Given the description of an element on the screen output the (x, y) to click on. 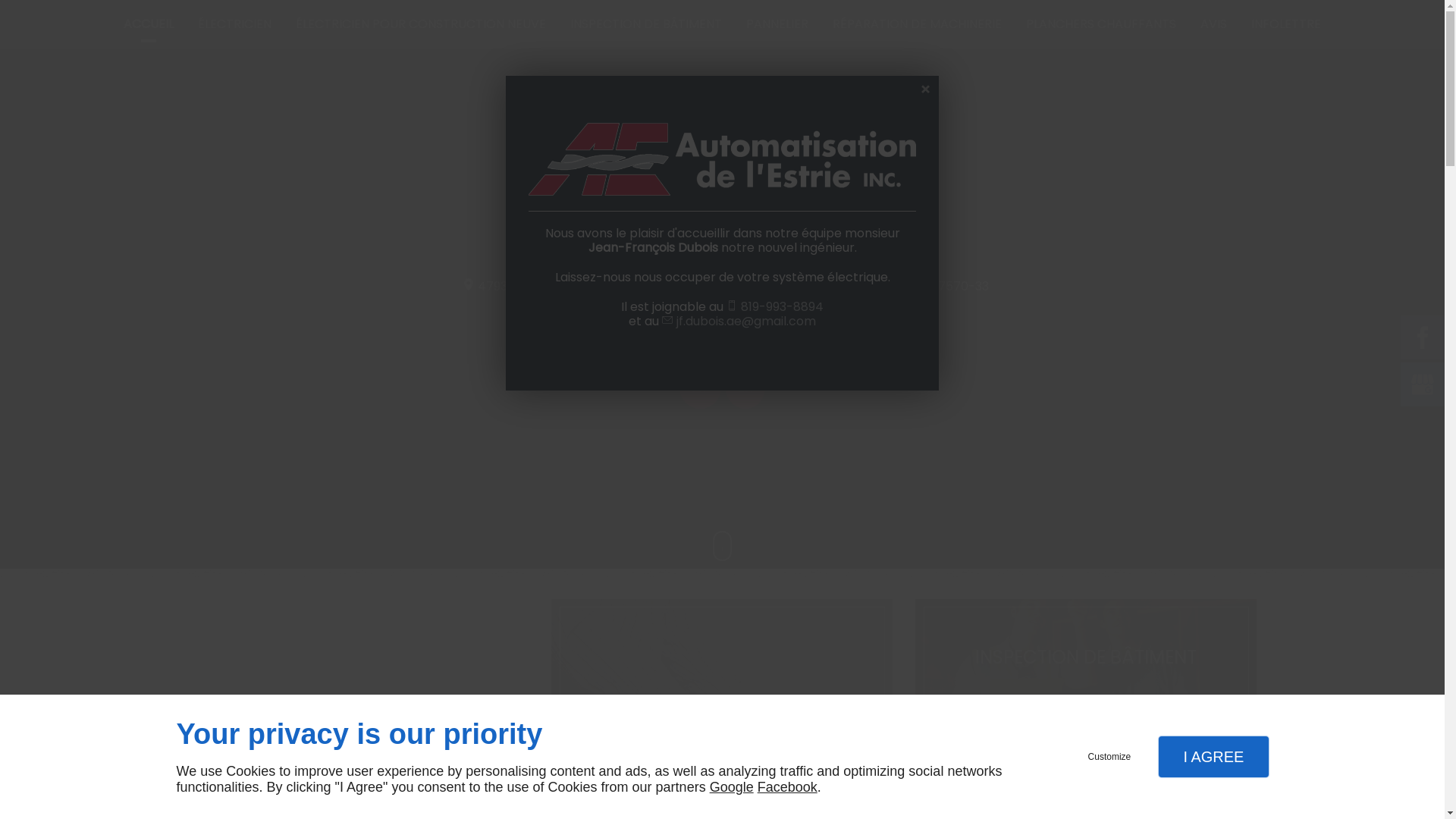
jf.dubois.ae@gmail.com Element type: text (745, 320)
INFOLETTRE Element type: text (1286, 24)
PANNELIER Element type: text (777, 24)
EN Element type: text (745, 387)
PLANCHERS CHAUFFANTS Element type: text (1100, 24)
Mybusiness Element type: hover (1422, 384)
Google Element type: text (731, 786)
ACCUEIL Element type: text (148, 24)
CONTACTEZ-NOUS Element type: text (742, 330)
Facebook Element type: hover (1422, 337)
AVIS Element type: text (1213, 24)
FR Element type: text (700, 387)
Facebook Element type: text (787, 786)
819-573-0500 Element type: text (801, 284)
819-993-8894 Element type: text (781, 306)
